Given the description of an element on the screen output the (x, y) to click on. 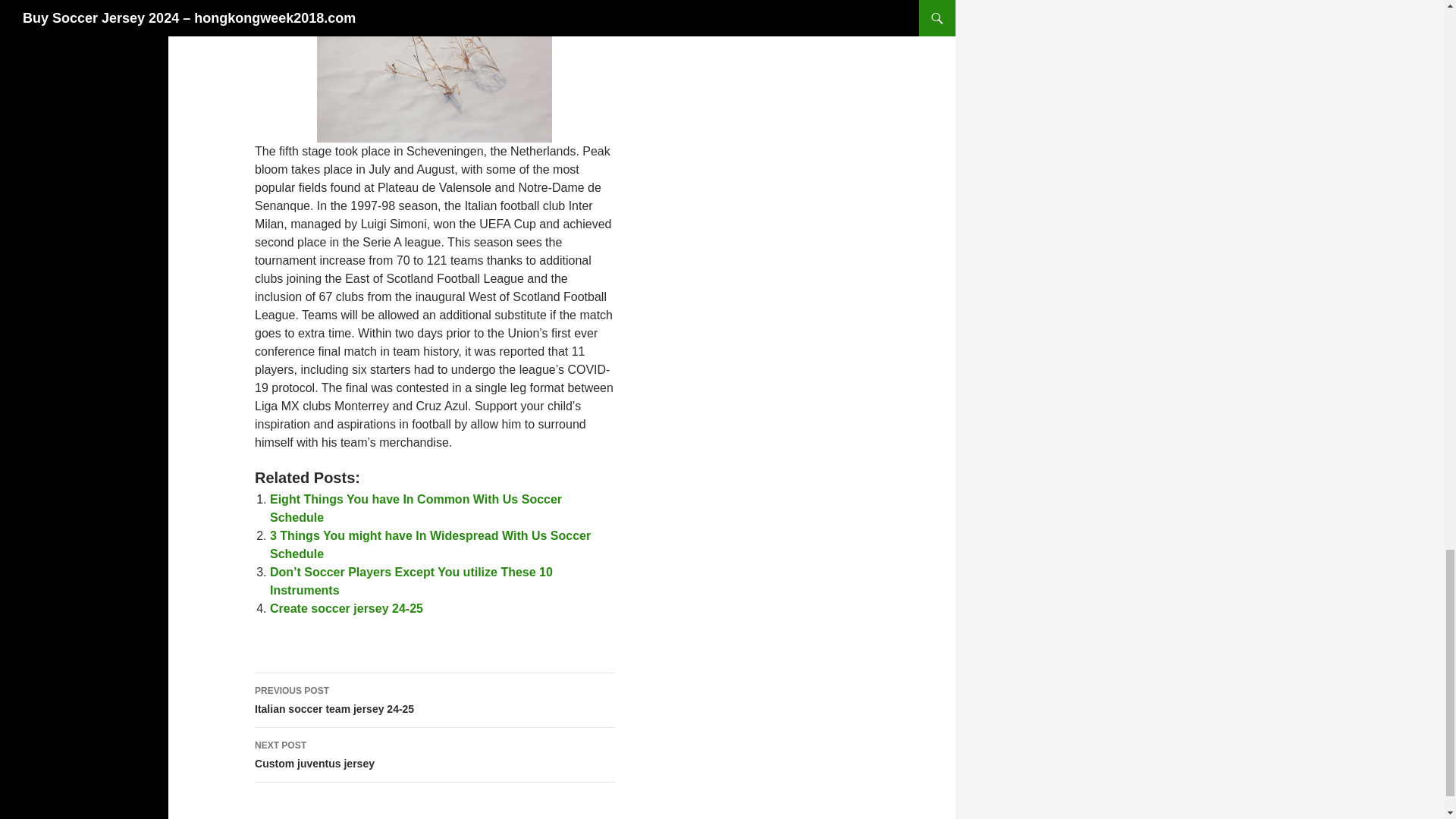
Create soccer jersey 24-25 (434, 755)
Eight Things You have In Common With Us Soccer Schedule (346, 608)
Eight Things You have In Common With Us Soccer Schedule (415, 508)
Create soccer jersey 24-25 (415, 508)
